Given the description of an element on the screen output the (x, y) to click on. 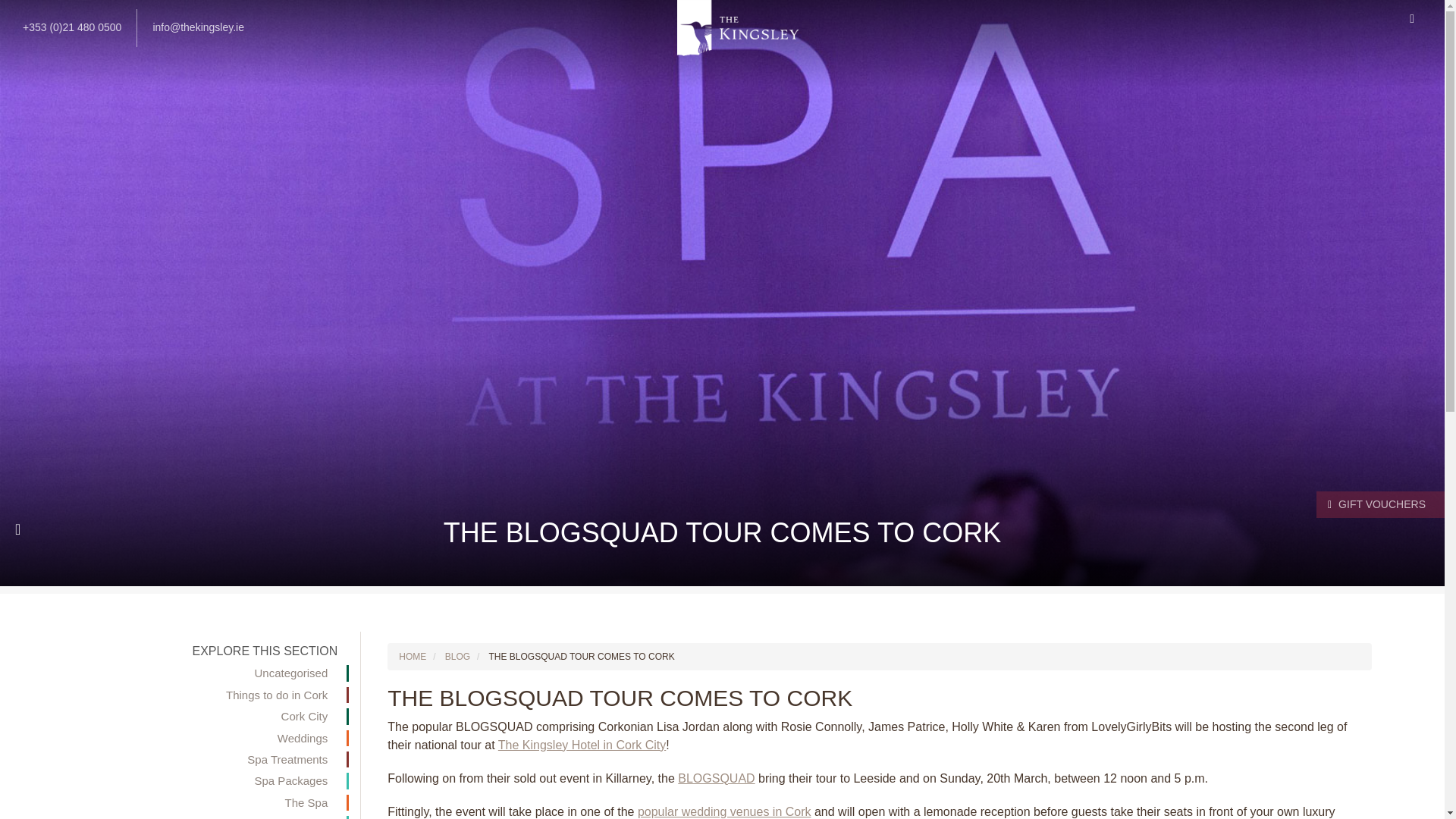
Spa Treatments (178, 759)
Spa Packages (178, 780)
The Spa (178, 802)
Uncategorised (178, 672)
Cork City (178, 715)
Show Menu (1411, 18)
Things to do in Cork (178, 694)
Weddings (178, 738)
